Given the description of an element on the screen output the (x, y) to click on. 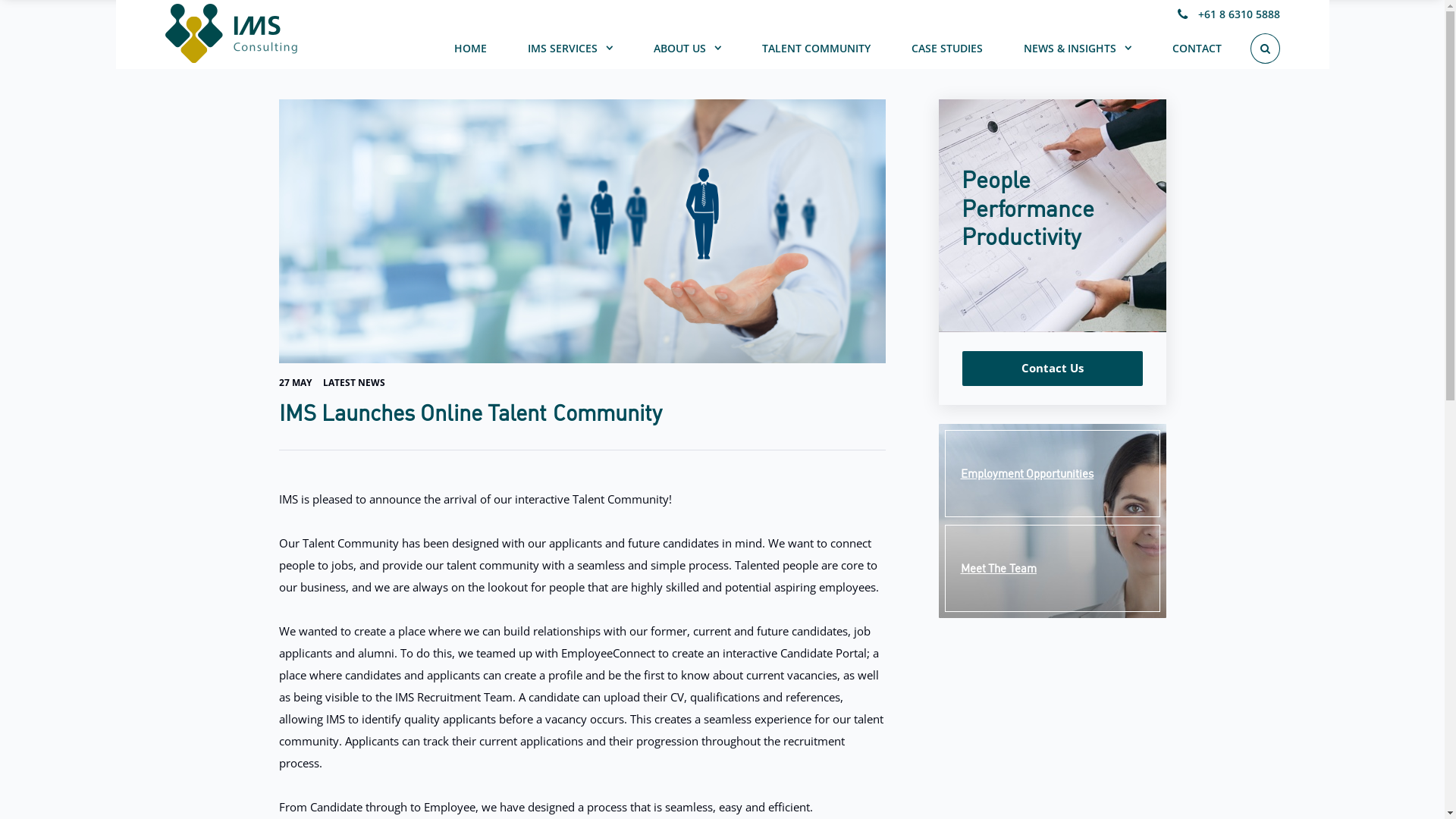
ABOUT US Element type: text (687, 51)
IMS SERVICES Element type: text (569, 51)
CONTACT Element type: text (1196, 51)
HOME Element type: text (469, 51)
Search Element type: text (1100, 37)
CASE STUDIES Element type: text (946, 51)
NEWS & INSIGHTS Element type: text (1077, 51)
Meet The Team Element type: text (1052, 567)
IMS Consulting Element type: hover (231, 32)
Employment Opportunities Element type: text (1052, 473)
+61 8 6310 5888 Element type: text (1227, 14)
TALENT COMMUNITY Element type: text (815, 51)
Contact Us Element type: text (1051, 368)
